Given the description of an element on the screen output the (x, y) to click on. 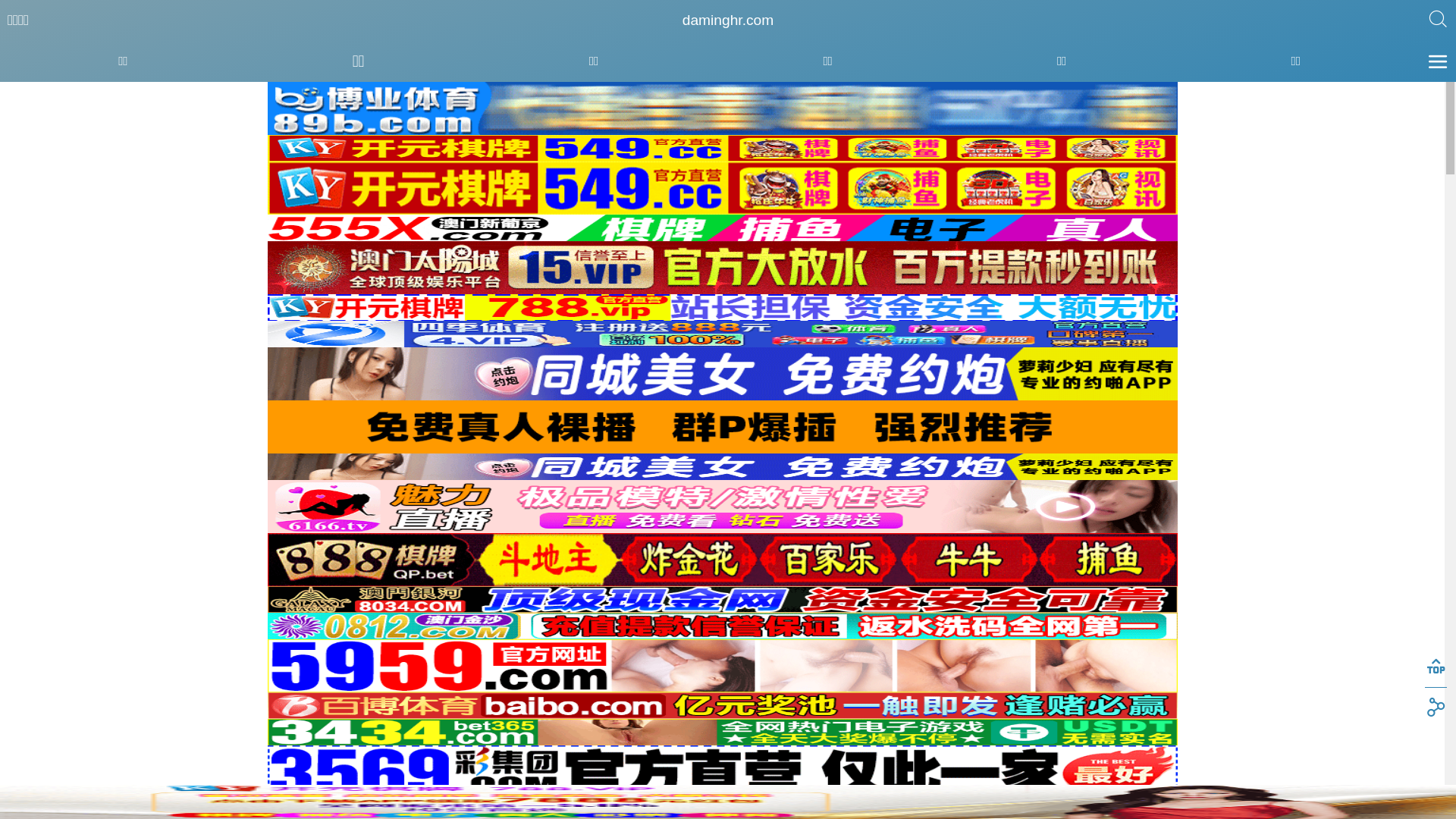
daminghr.com Element type: text (728, 20)
